Given the description of an element on the screen output the (x, y) to click on. 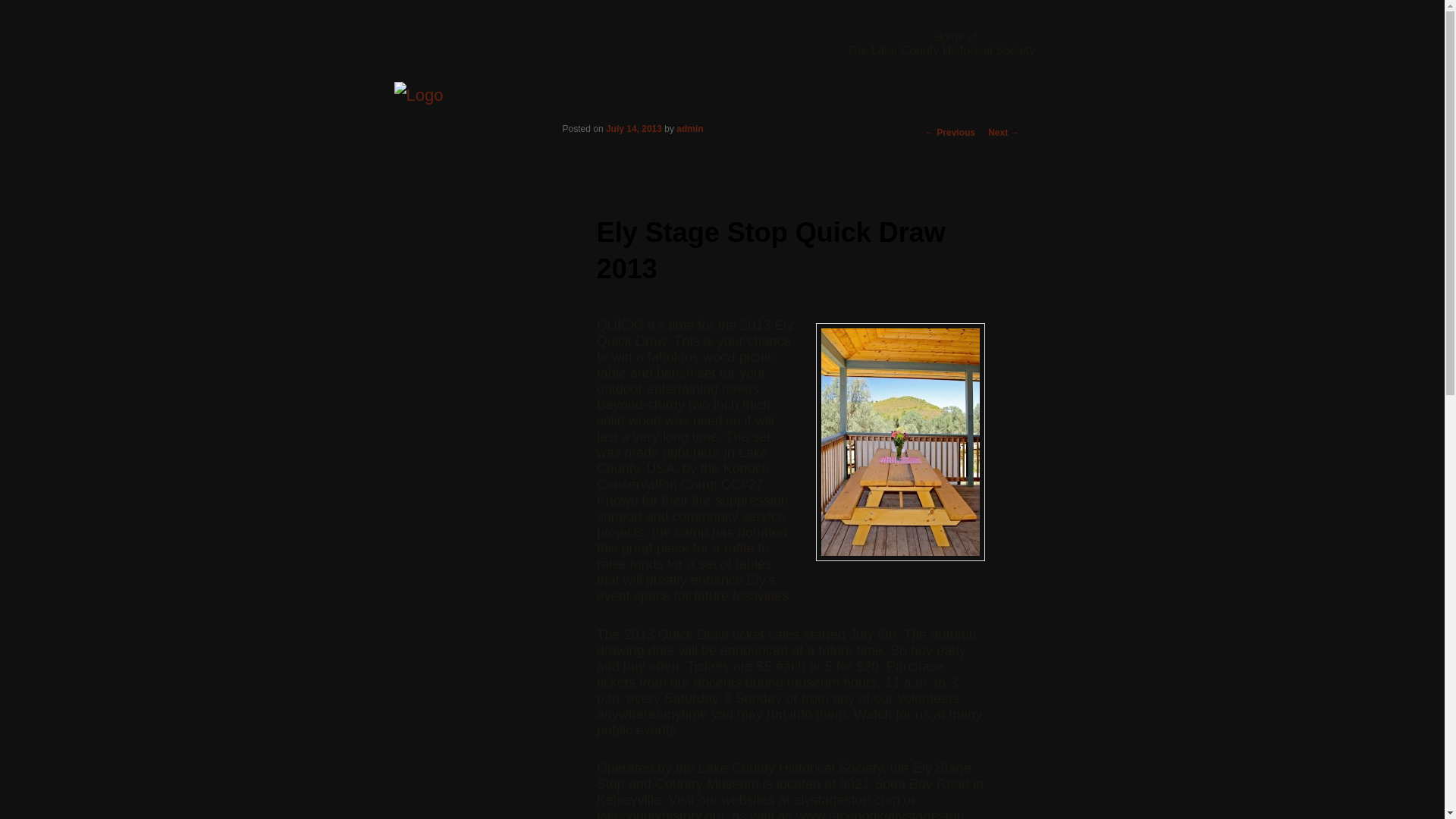
Ely Stage Stop (419, 94)
10:36 am (633, 128)
admin (690, 128)
The Lake County Historical Society (940, 50)
View all posts by admin (690, 128)
July 14, 2013 (633, 128)
